Given the description of an element on the screen output the (x, y) to click on. 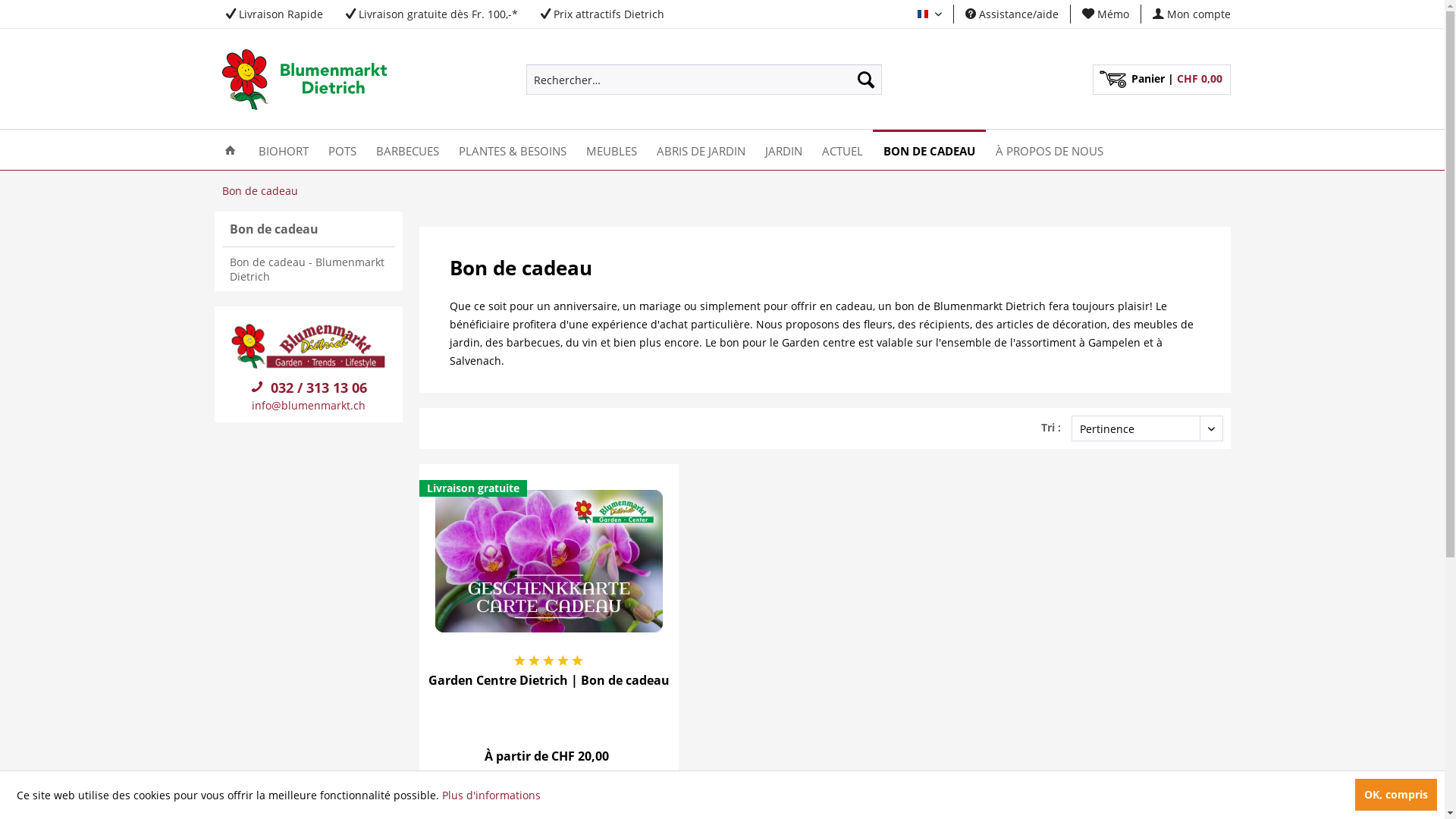
BARBECUES Element type: text (406, 149)
Bon de cadeau Element type: text (258, 190)
Mon compte Element type: text (1191, 13)
BON DE CADEAU Element type: text (928, 149)
Contenu Element type: hover (548, 736)
PLANTES & BESOINS Element type: text (512, 149)
Garden Centre Dietrich | Bon de cadeau Element type: hover (548, 560)
Bon de cadeau - Blumenmarkt Dietrich Element type: text (307, 269)
Plus d'informations Element type: text (491, 794)
Accueil Element type: hover (228, 149)
BIOHORT Element type: text (283, 149)
Garden Centre Dietrich | Bon de cadeau Element type: text (548, 687)
JARDIN Element type: text (783, 149)
ABRIS DE JARDIN Element type: text (700, 149)
ACTUEL Element type: text (841, 149)
Garden Centre Dietrich | Bon de cadeau Element type: hover (548, 560)
MEUBLES Element type: text (611, 149)
Voir les variantes Element type: text (548, 792)
POTS Element type: text (342, 149)
Panier | CHF 0,00 Element type: text (1161, 79)
Bon de cadeau Element type: text (307, 229)
OK, compris Element type: text (1396, 794)
info@blumenmarkt.ch Element type: text (308, 405)
